Given the description of an element on the screen output the (x, y) to click on. 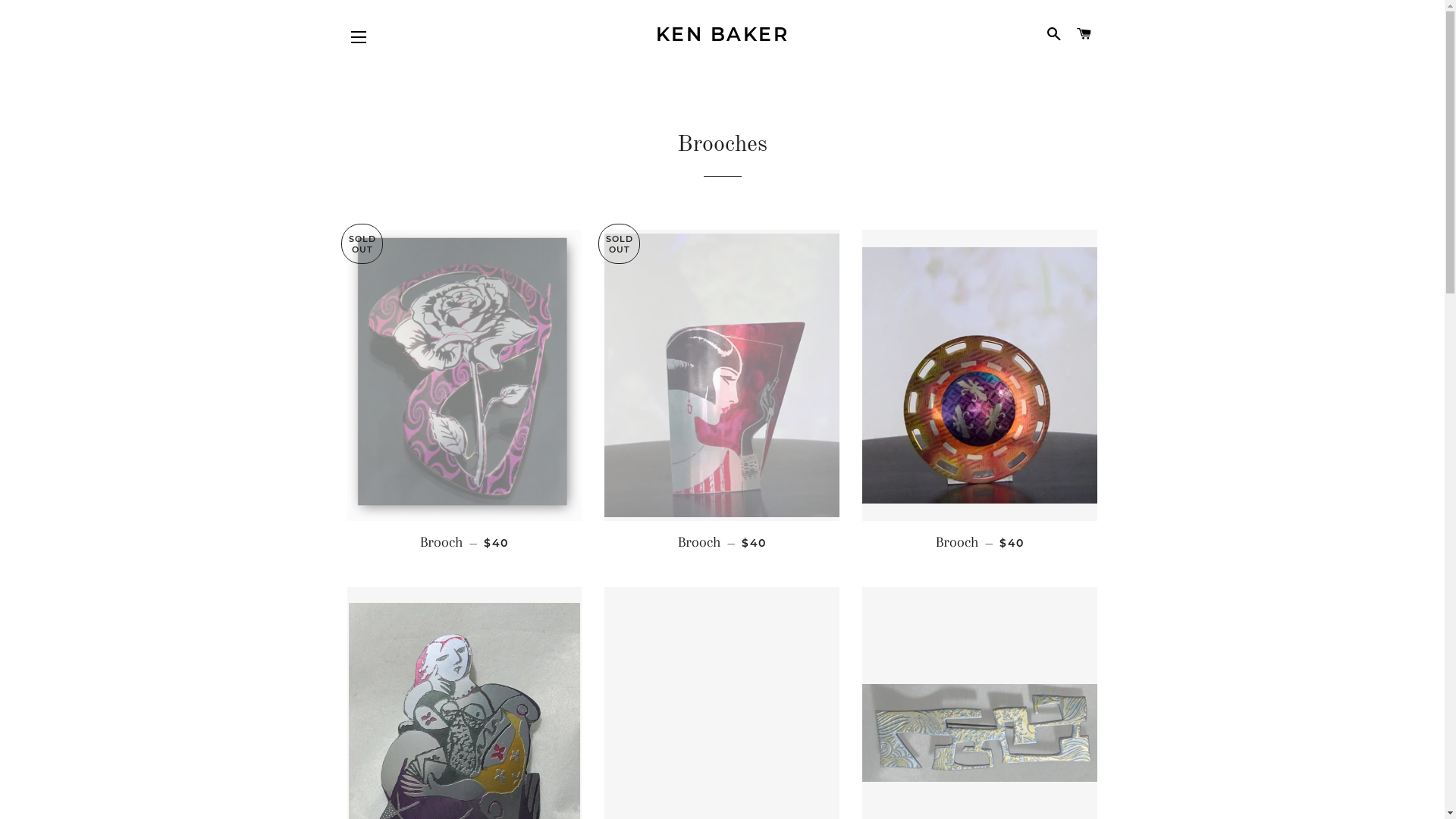
CART Element type: text (1083, 33)
SITE NAVIGATION Element type: text (358, 37)
SEARCH Element type: text (1054, 33)
KEN BAKER Element type: text (721, 34)
